Given the description of an element on the screen output the (x, y) to click on. 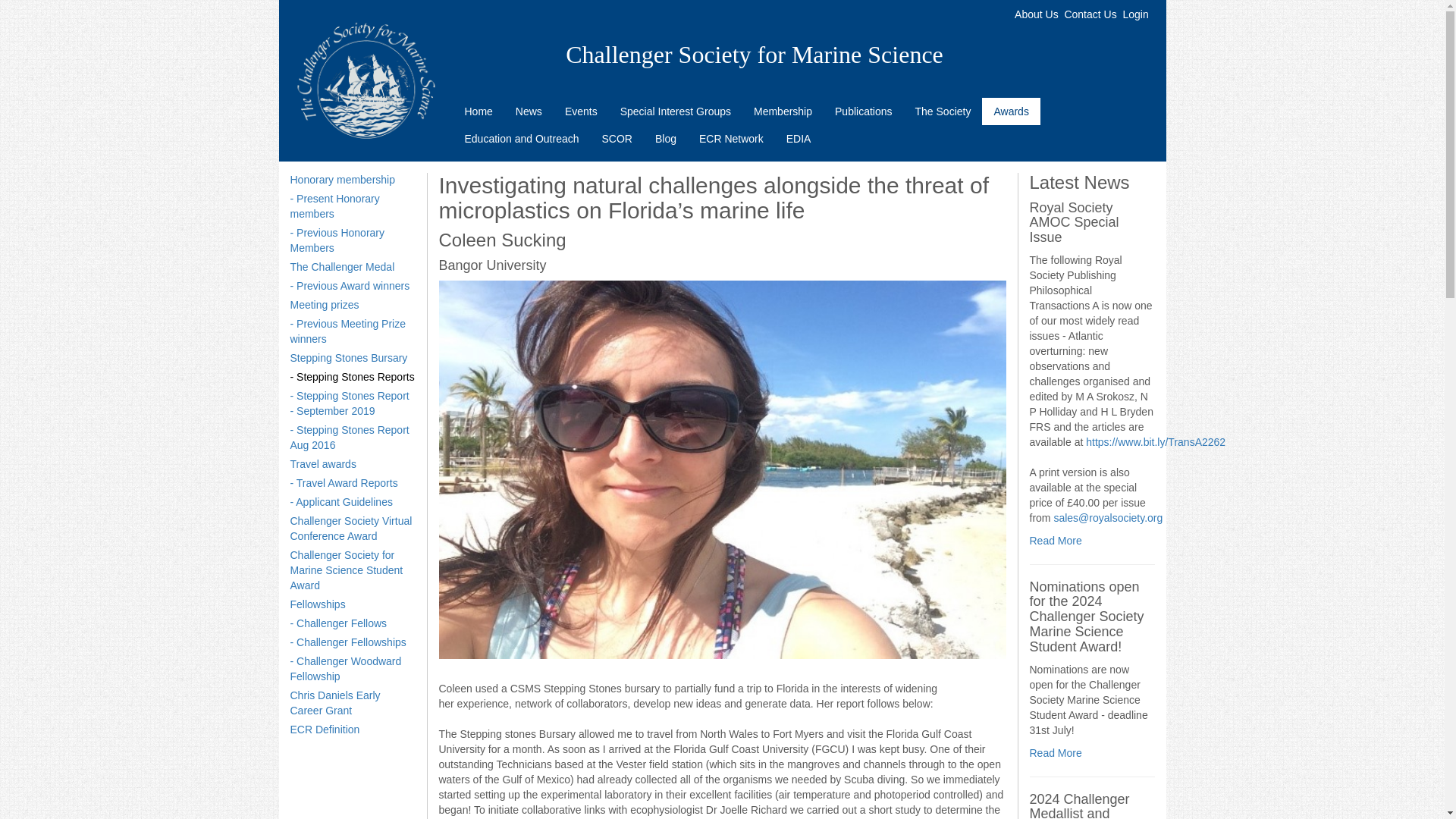
Publications (864, 111)
Membership (783, 111)
Contact Us (1090, 14)
Events (580, 111)
Login (1135, 14)
About Us (1036, 14)
Home (477, 111)
News (528, 111)
Special Interest Groups (675, 111)
